Given the description of an element on the screen output the (x, y) to click on. 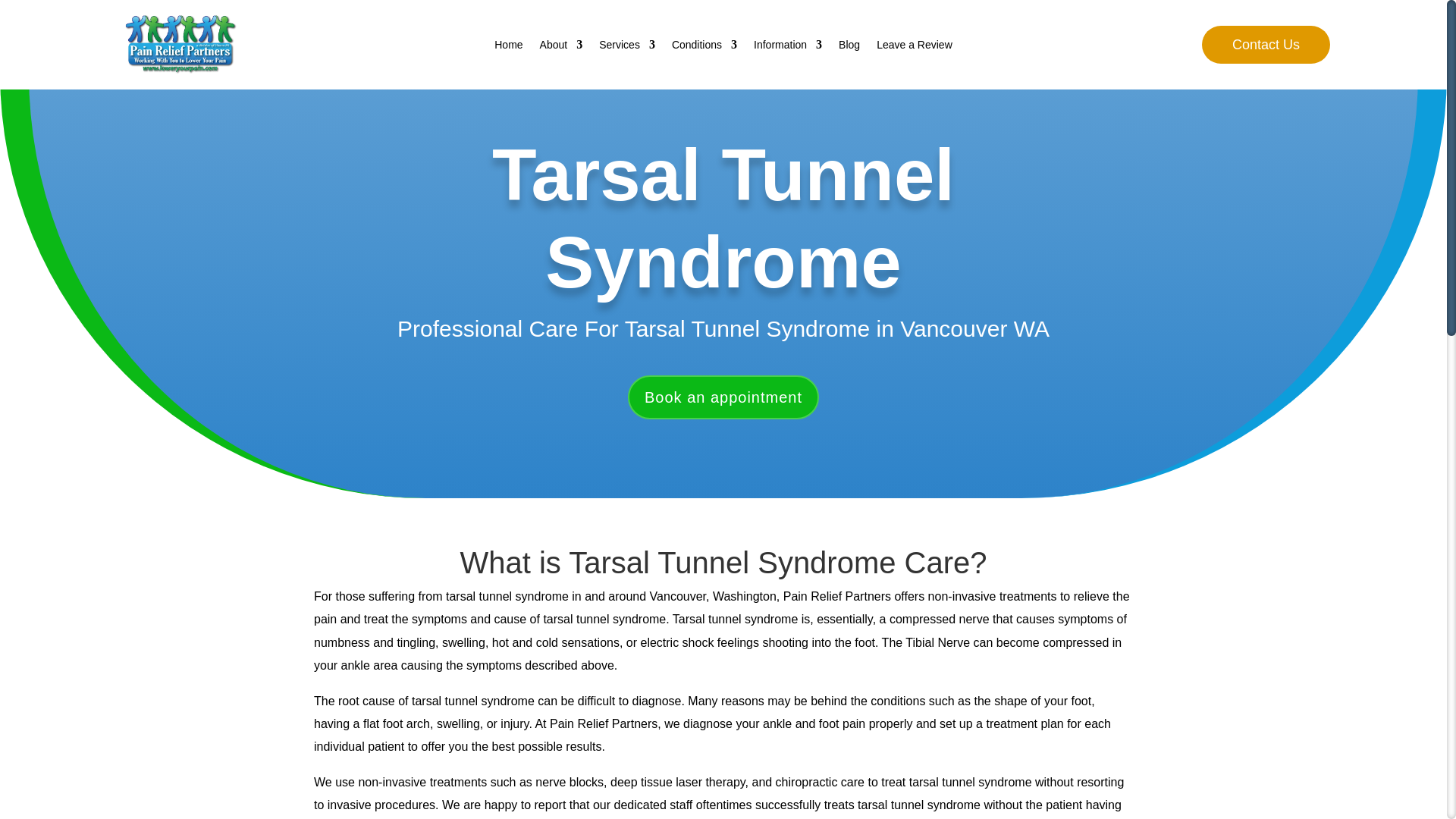
Leave a Review (914, 47)
Services (626, 47)
Home (508, 47)
About (561, 47)
Information (788, 47)
Blog (849, 47)
Conditions (703, 47)
